Given the description of an element on the screen output the (x, y) to click on. 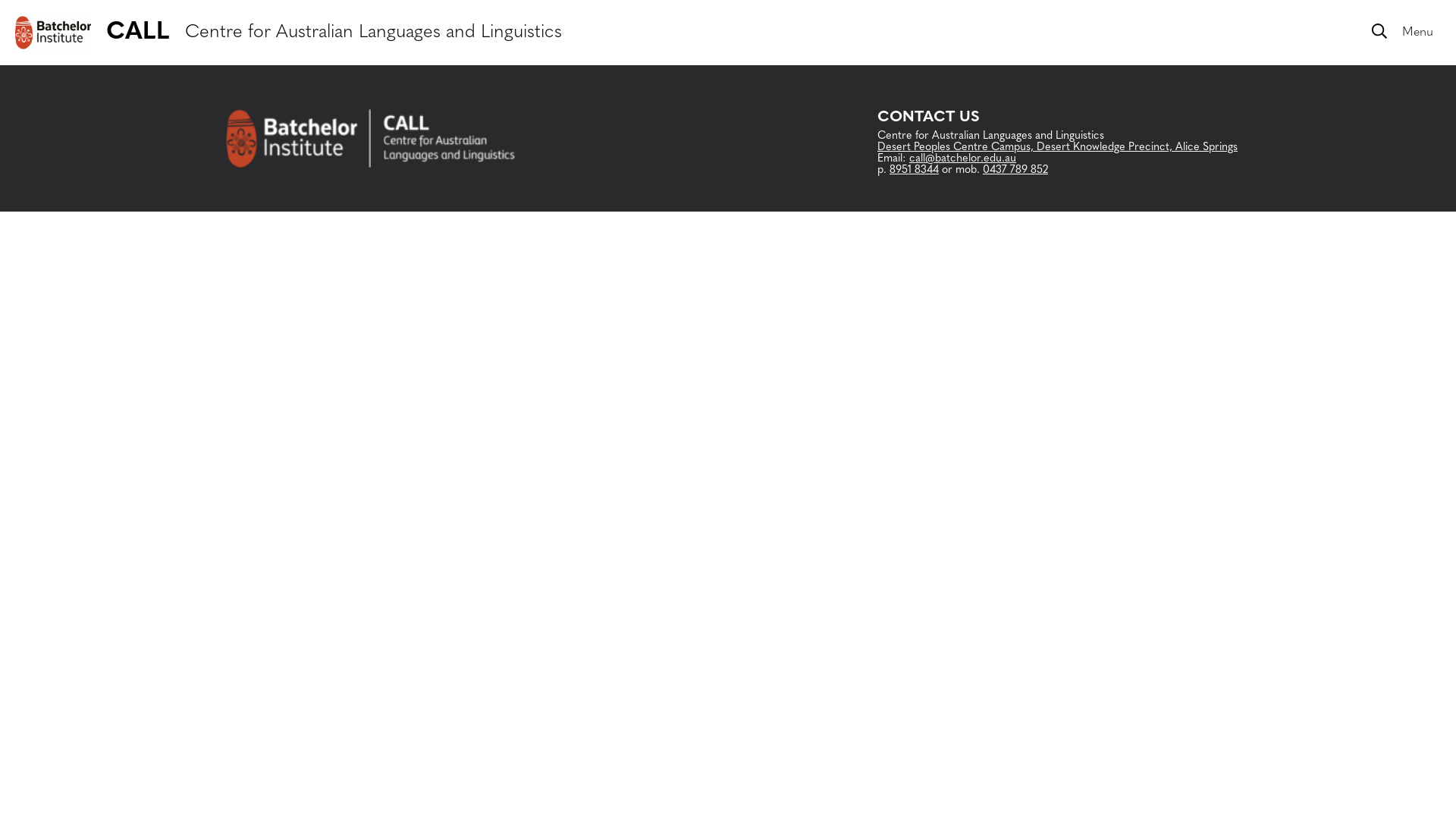
0437 789 852 Element type: text (1015, 169)
call@batchelor.edu.au Element type: text (962, 158)
CALL
Centre for Australian Languages and Linguistics Element type: text (280, 32)
8951 8344 Element type: text (913, 169)
Menu Element type: text (1409, 32)
